Given the description of an element on the screen output the (x, y) to click on. 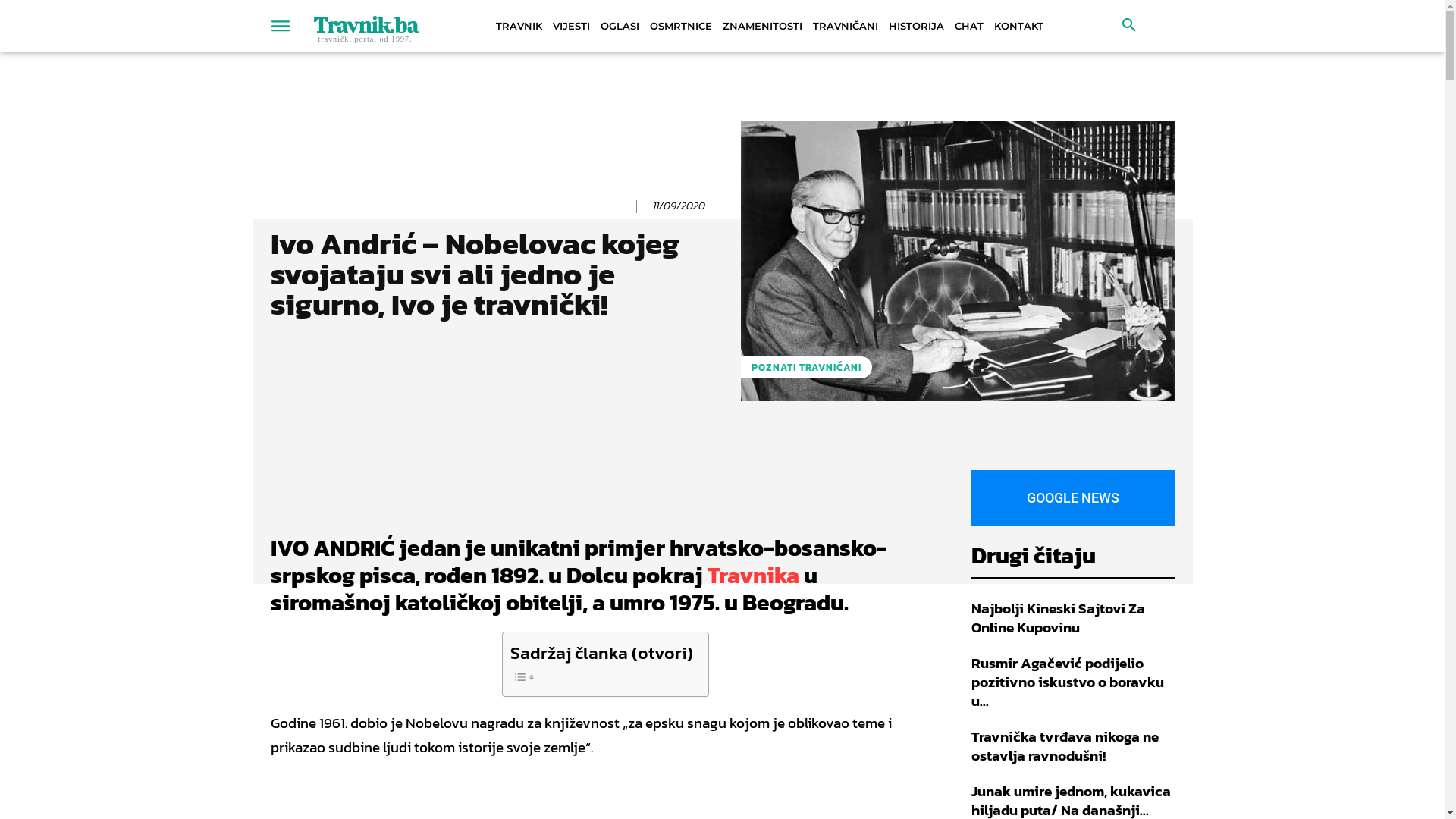
GOOGLE NEWS Element type: text (1071, 497)
Najbolji Kineski Sajtovi Za Online Kupovinu Element type: text (1057, 617)
TRAVNIK Element type: text (517, 25)
ZNAMENITOSTI Element type: text (762, 25)
VIJESTI Element type: text (571, 25)
HISTORIJA Element type: text (915, 25)
KONTAKT Element type: text (1018, 25)
CHAT Element type: text (968, 25)
Travnika Element type: text (752, 575)
OGLASI Element type: text (618, 25)
OSMRTNICE Element type: text (680, 25)
